Given the description of an element on the screen output the (x, y) to click on. 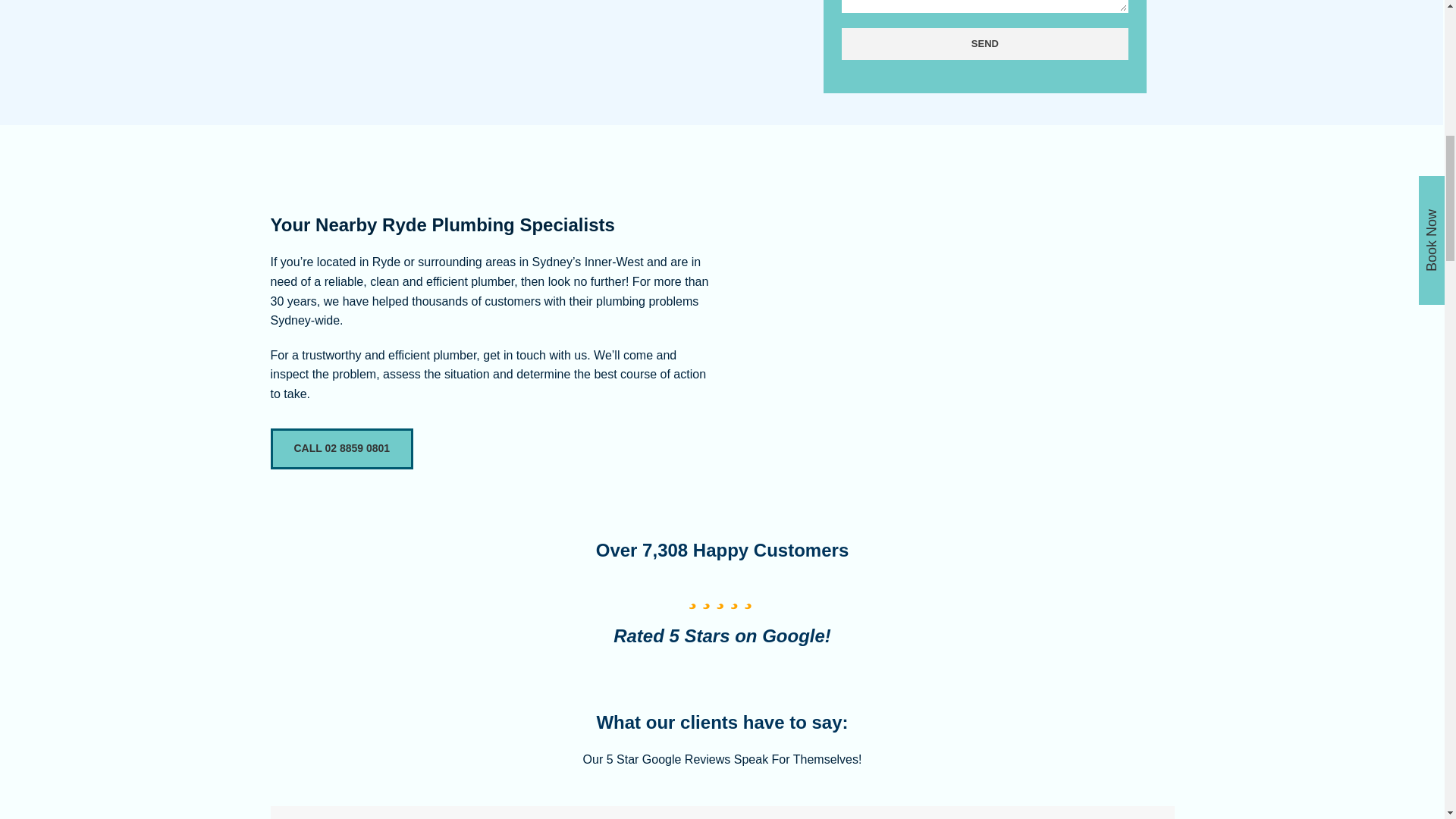
CALL 02 8859 0801 (342, 448)
Call now (342, 448)
Send (983, 43)
Send (983, 43)
